Given the description of an element on the screen output the (x, y) to click on. 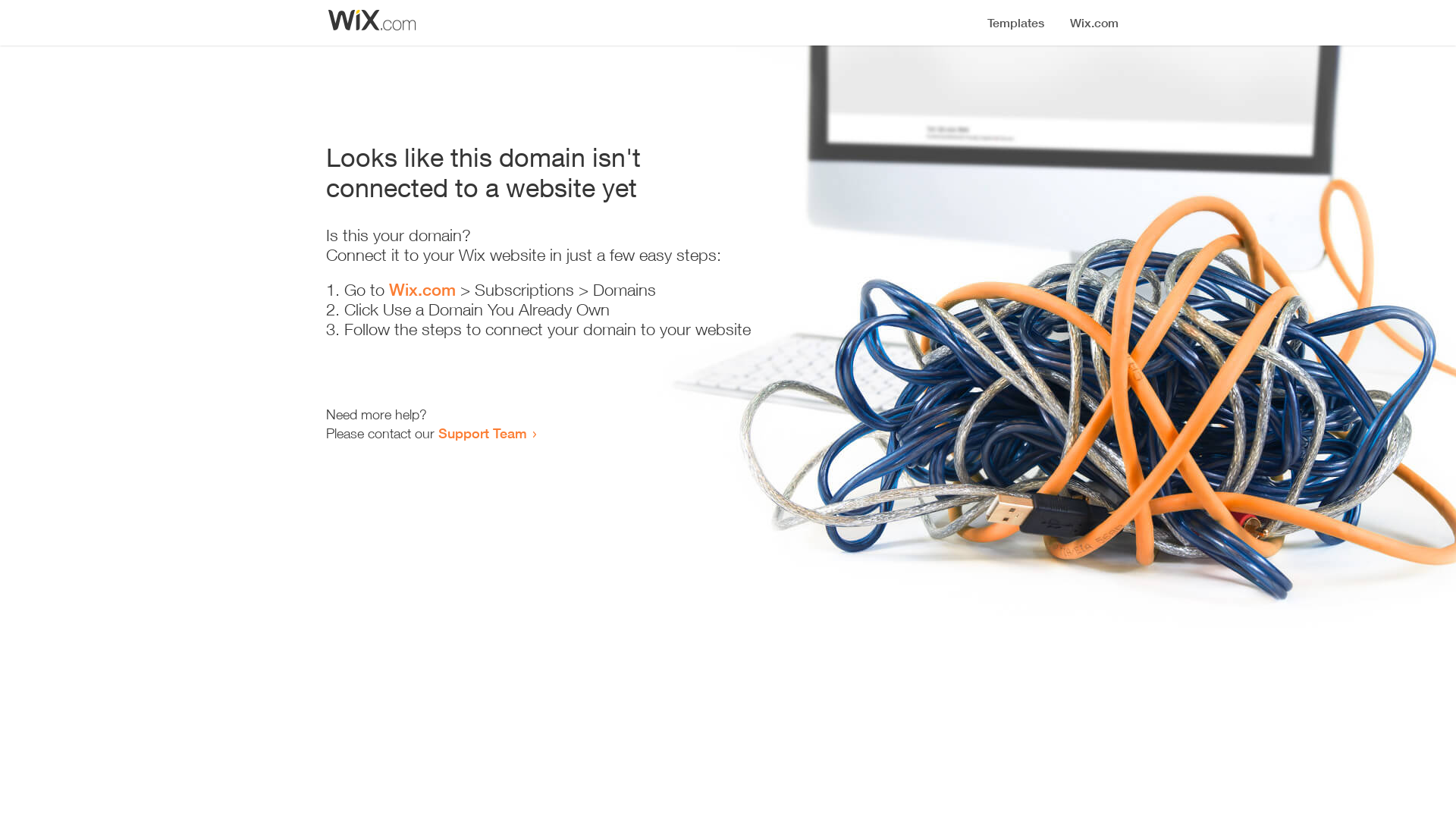
Support Team Element type: text (482, 432)
Wix.com Element type: text (422, 289)
